Given the description of an element on the screen output the (x, y) to click on. 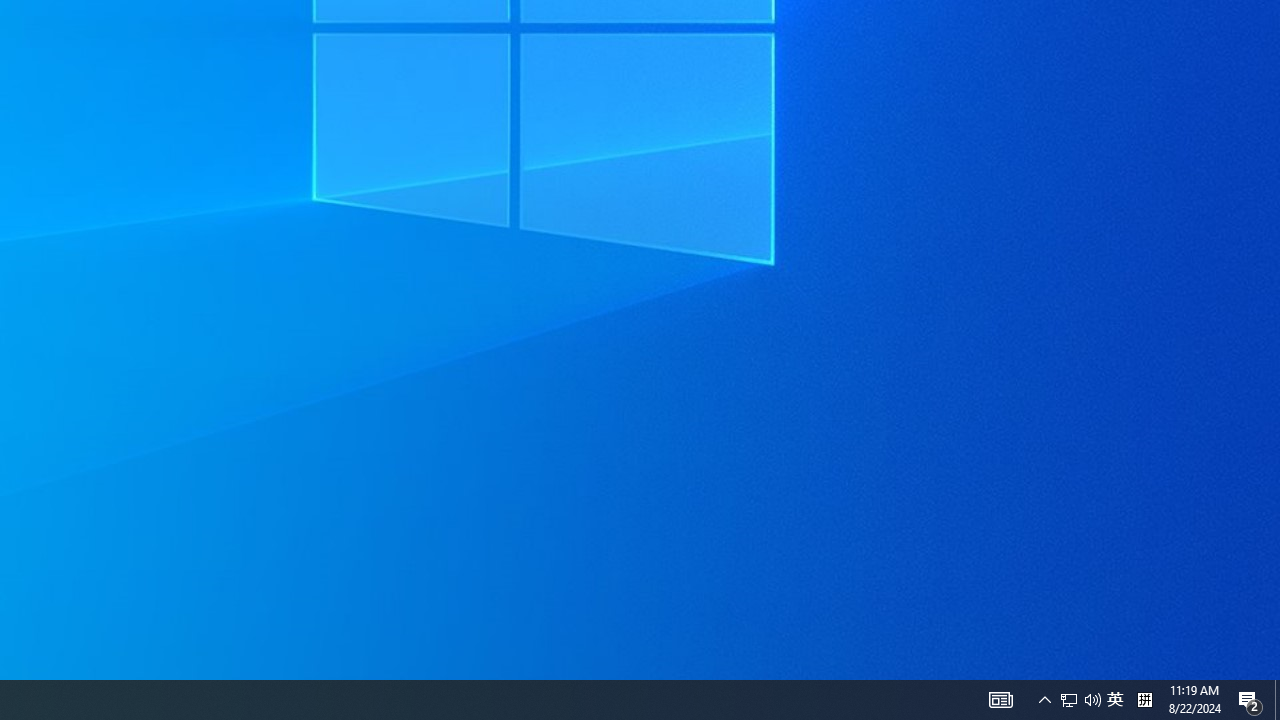
Q2790: 100% (1069, 699)
User Promoted Notification Area (1092, 699)
Show desktop (1080, 699)
AutomationID: 4105 (1277, 699)
Action Center, 2 new notifications (1000, 699)
Tray Input Indicator - Chinese (Simplified, China) (1115, 699)
Notification Chevron (1250, 699)
